Given the description of an element on the screen output the (x, y) to click on. 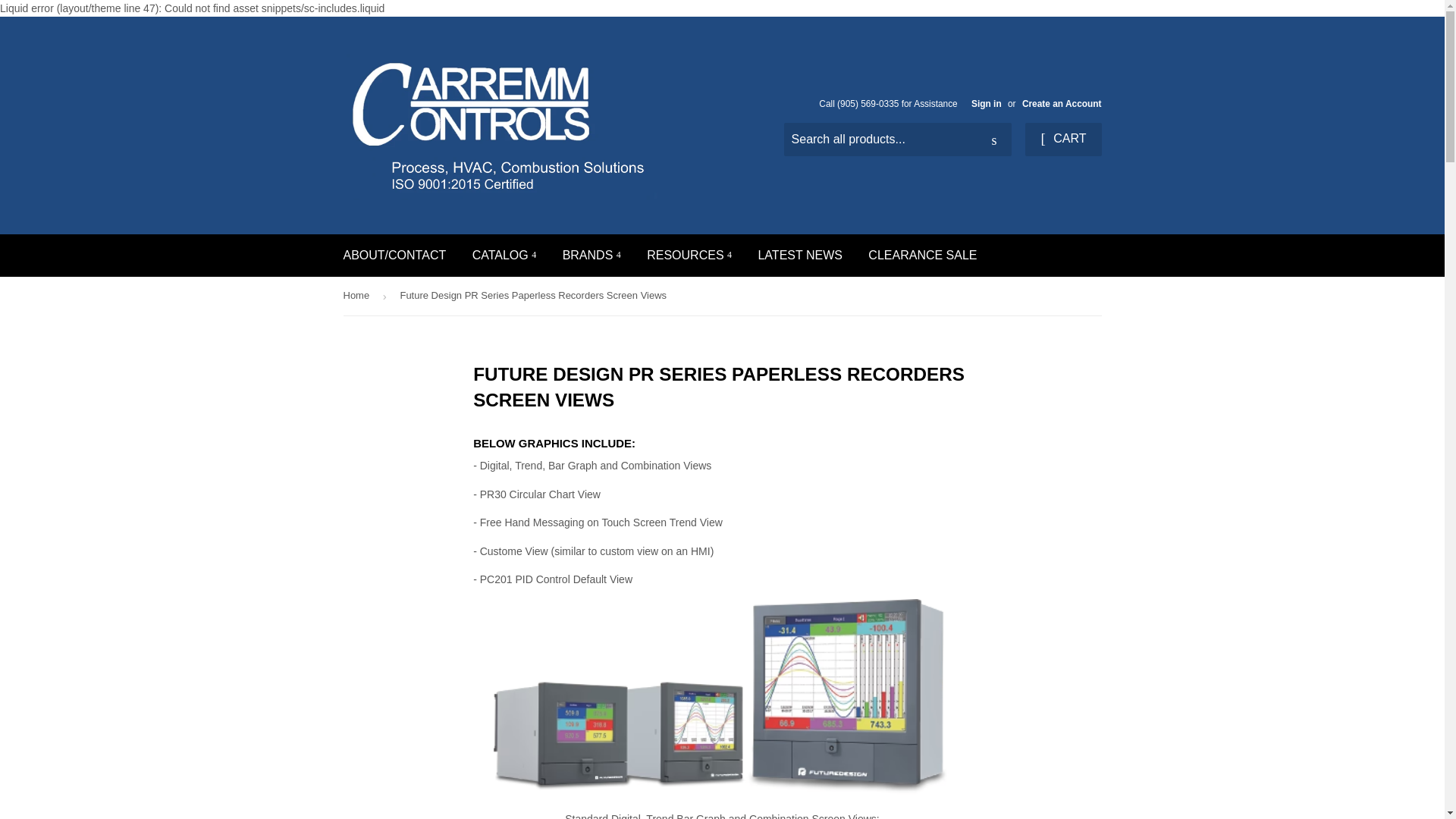
Sign in (986, 103)
BRANDS (591, 255)
CATALOG (504, 255)
Search (993, 140)
CART (1062, 139)
Create an Account (1062, 103)
